Given the description of an element on the screen output the (x, y) to click on. 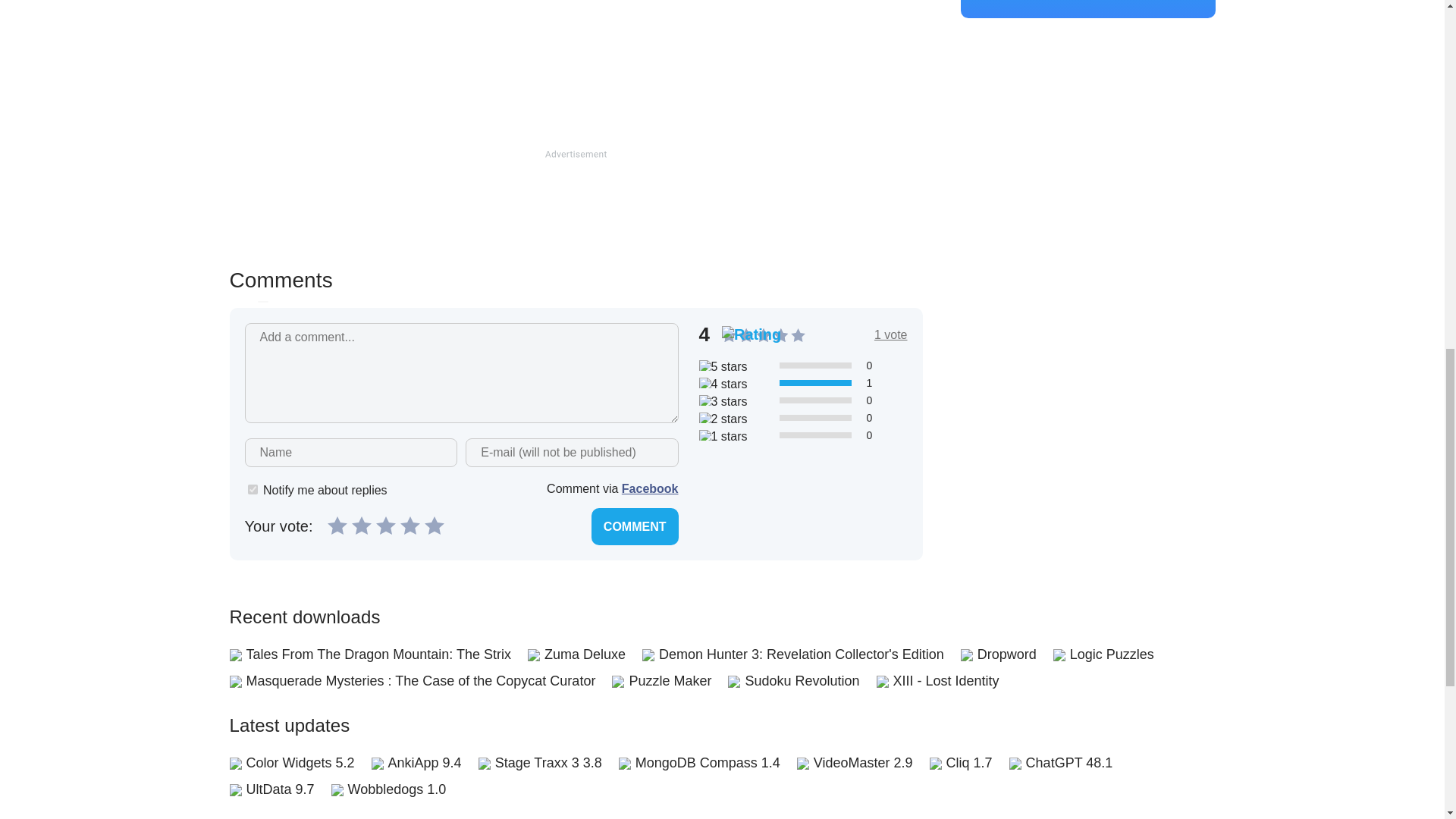
1 vote (891, 334)
1 (252, 489)
4 (409, 524)
Comment (634, 526)
Tales From The Dragon Mountain: The Strix (378, 654)
Zuma Deluxe (585, 654)
5 (434, 524)
2 (361, 524)
Comment (634, 526)
3 (385, 524)
